Given the description of an element on the screen output the (x, y) to click on. 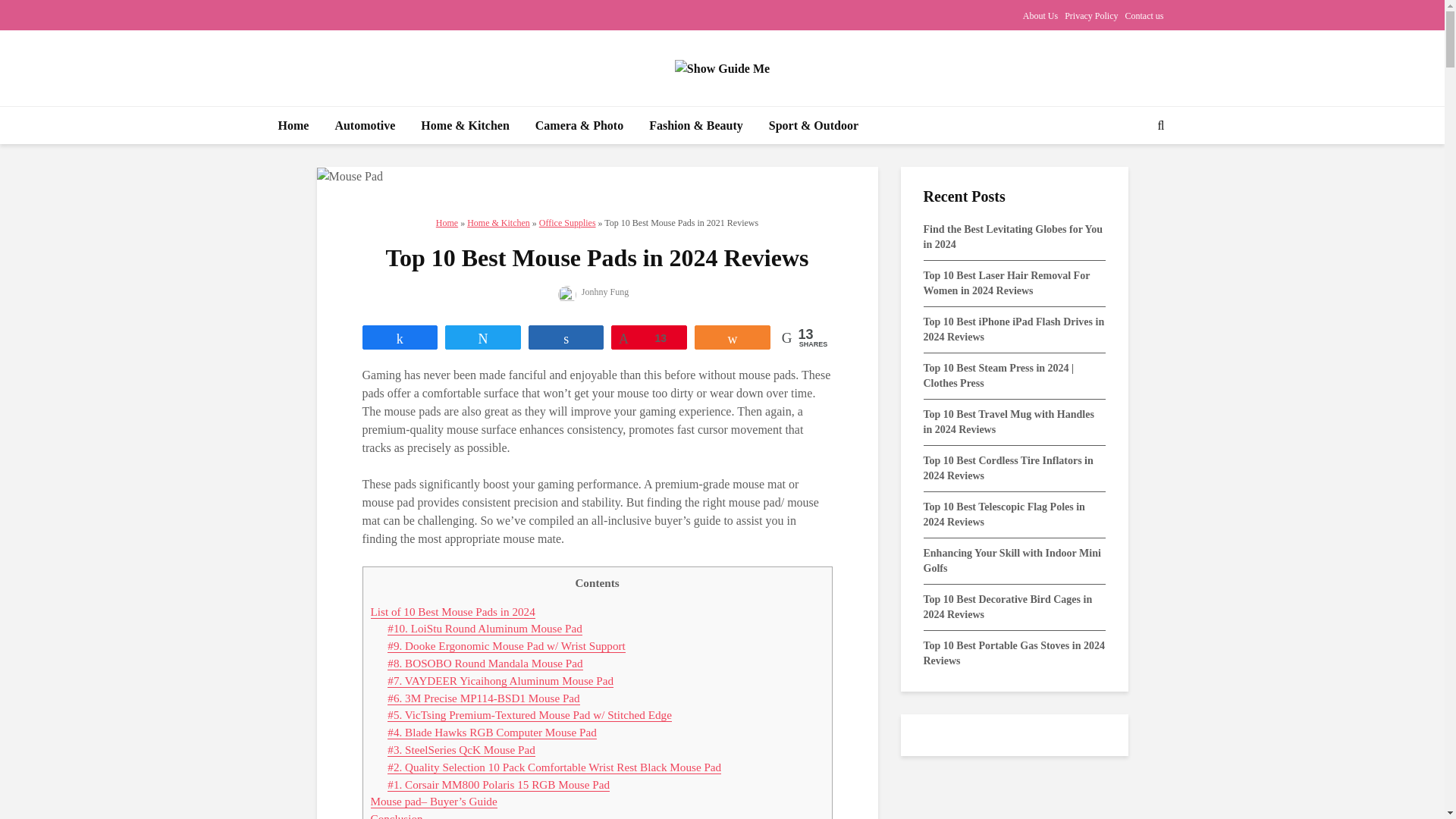
About Us (1040, 15)
Automotive (364, 125)
Home (293, 125)
Privacy Policy (1091, 15)
Contact us (1144, 15)
